Given the description of an element on the screen output the (x, y) to click on. 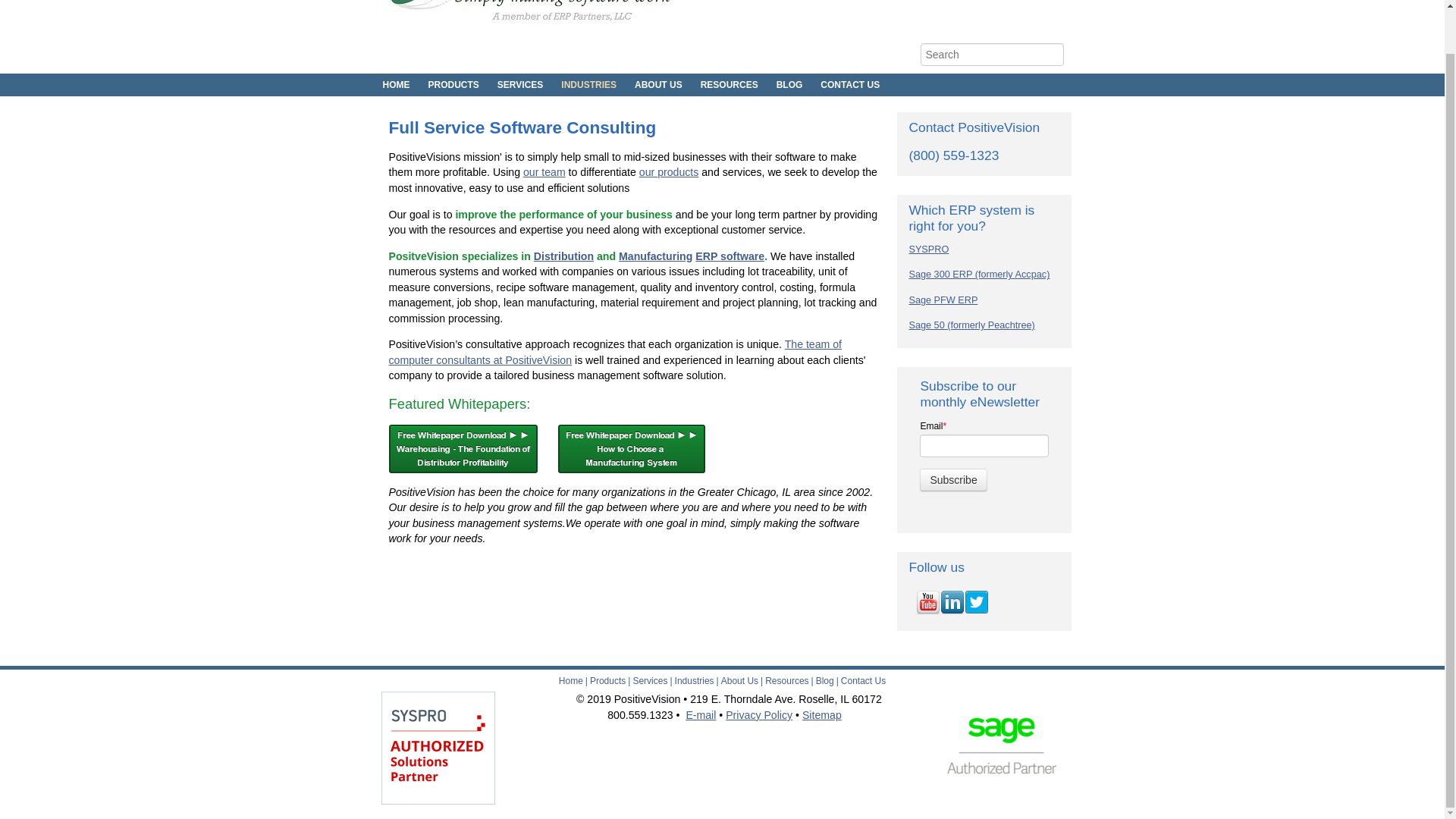
SYSPRO (928, 249)
The team of computer consultants at PositiveVision (614, 351)
Distribution (564, 256)
our team (544, 172)
Follow us on Linkedin (951, 602)
Distribution (564, 256)
Follow us on YouTube (927, 602)
our products (668, 172)
Manufacturing (655, 256)
The team of computer consultants at PositiveVision (614, 351)
BLOG (789, 84)
HOME (399, 84)
Sage PFW ERP (942, 299)
Subscribe (953, 479)
ERP software (729, 256)
